Given the description of an element on the screen output the (x, y) to click on. 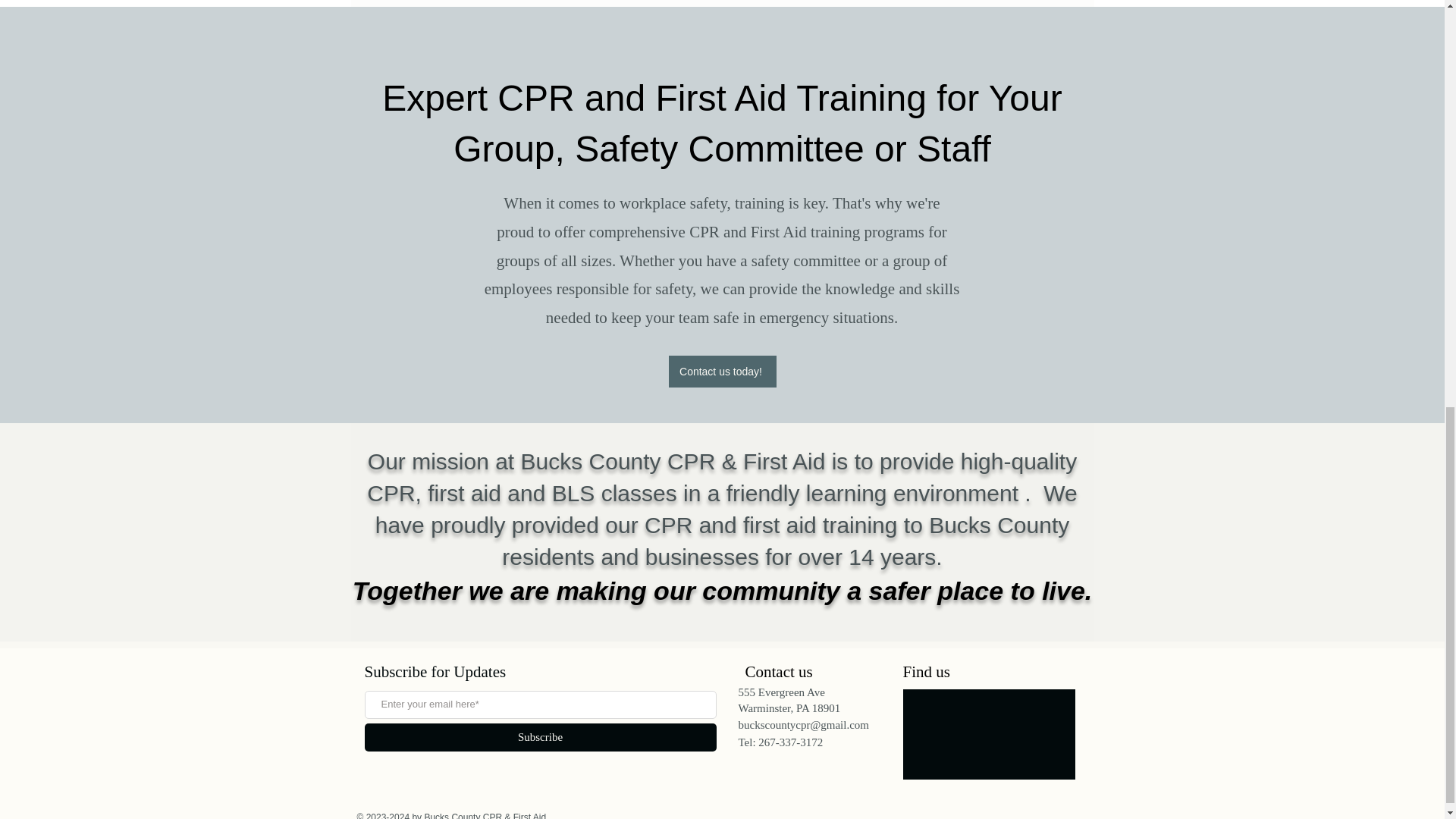
Subscribe (540, 737)
Contact us today! (722, 371)
